Given the description of an element on the screen output the (x, y) to click on. 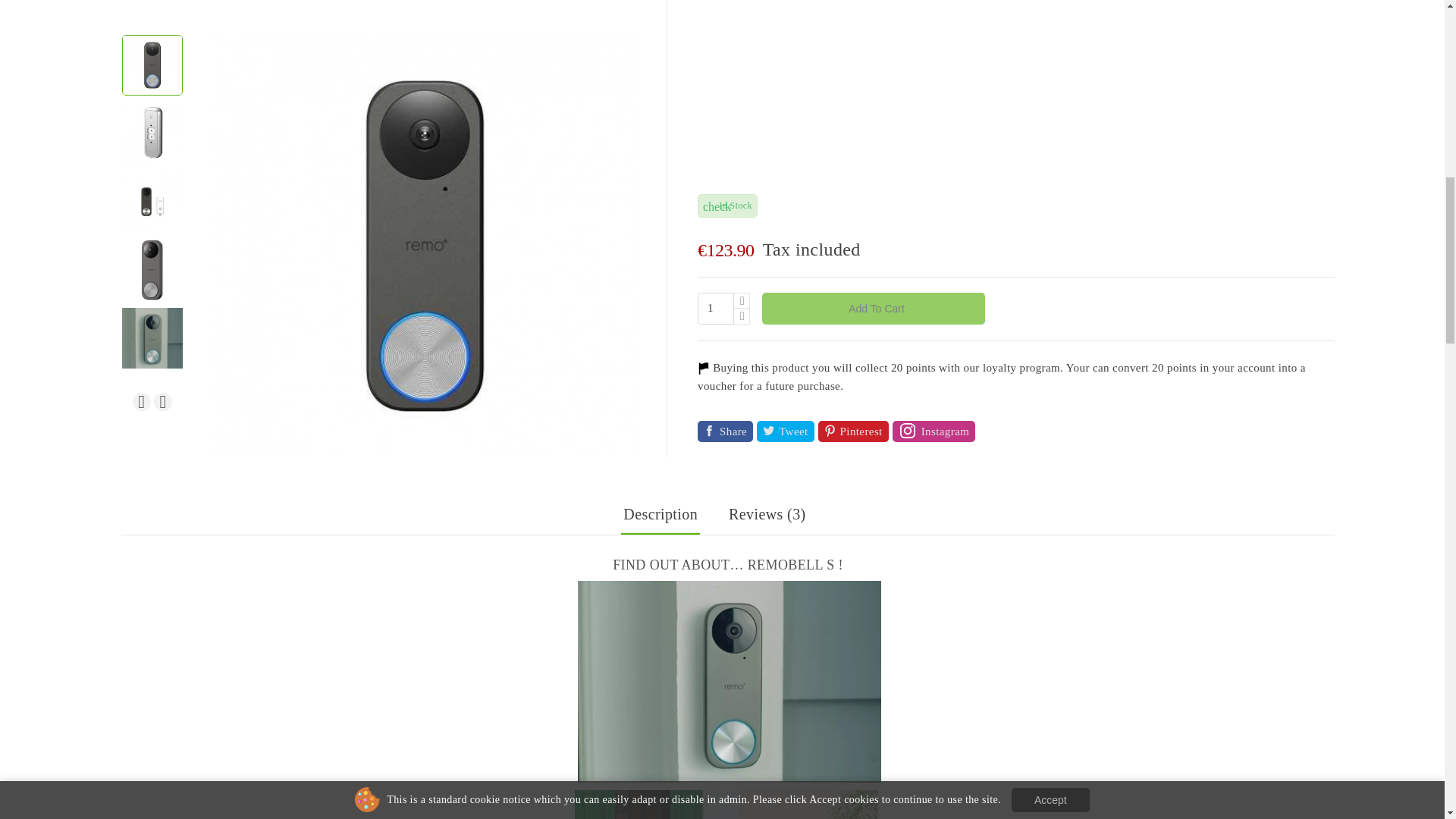
1 (715, 308)
